Given the description of an element on the screen output the (x, y) to click on. 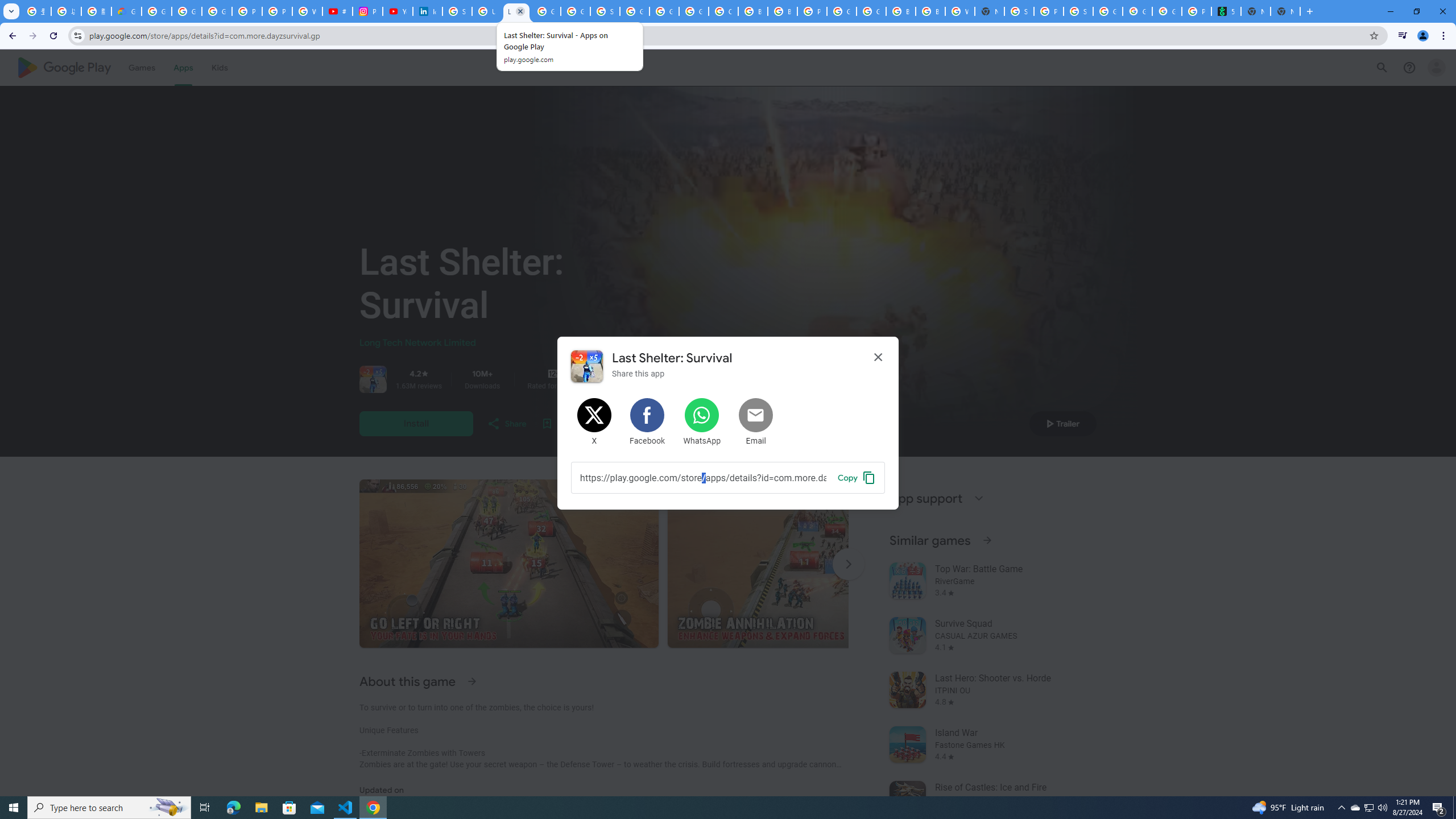
Copy link to clipboard (703, 477)
Browse Chrome as a guest - Computer - Google Chrome Help (900, 11)
